Given the description of an element on the screen output the (x, y) to click on. 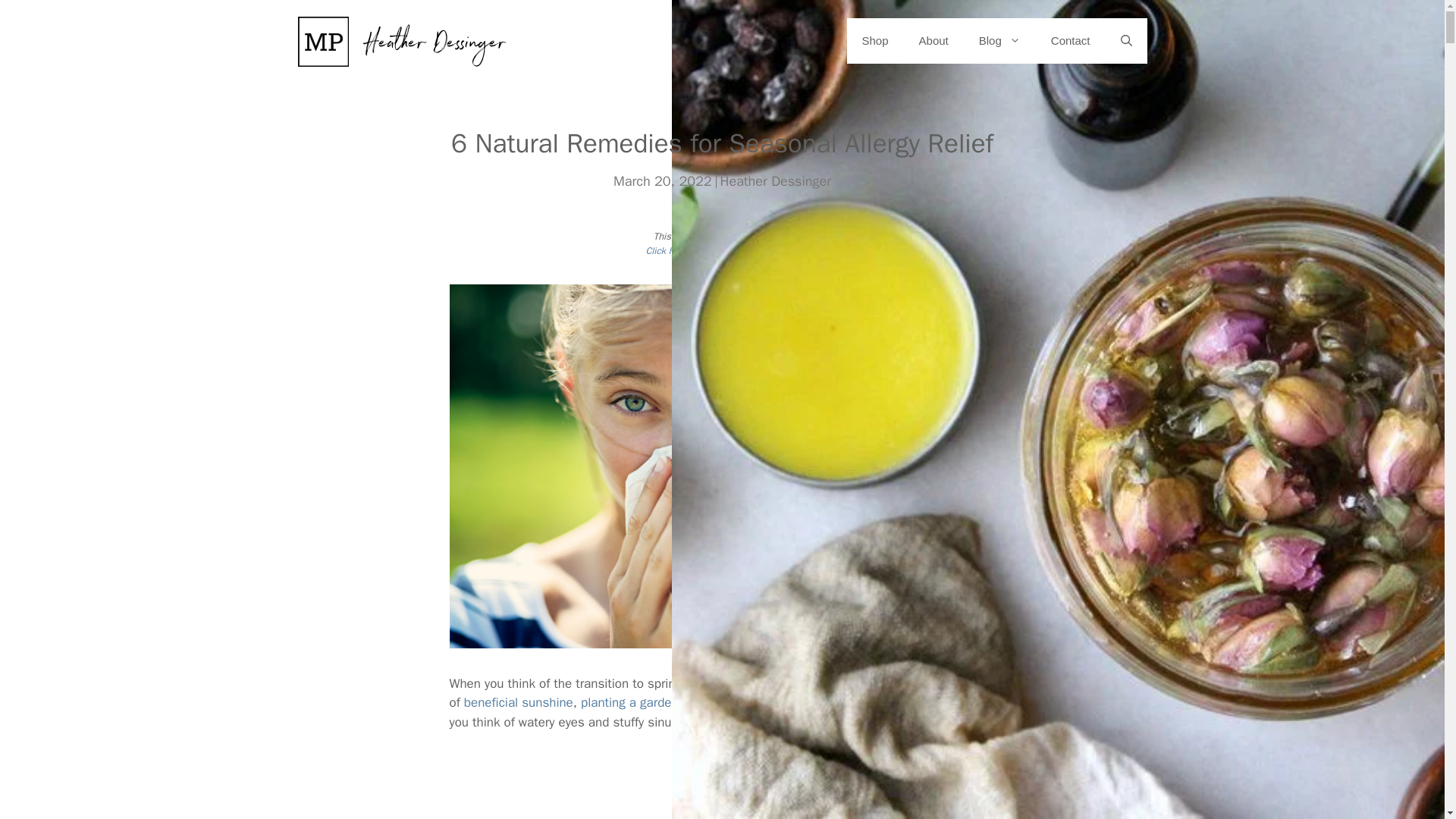
Contact (1070, 40)
Blog (999, 40)
Shop (875, 40)
About (933, 40)
